Given the description of an element on the screen output the (x, y) to click on. 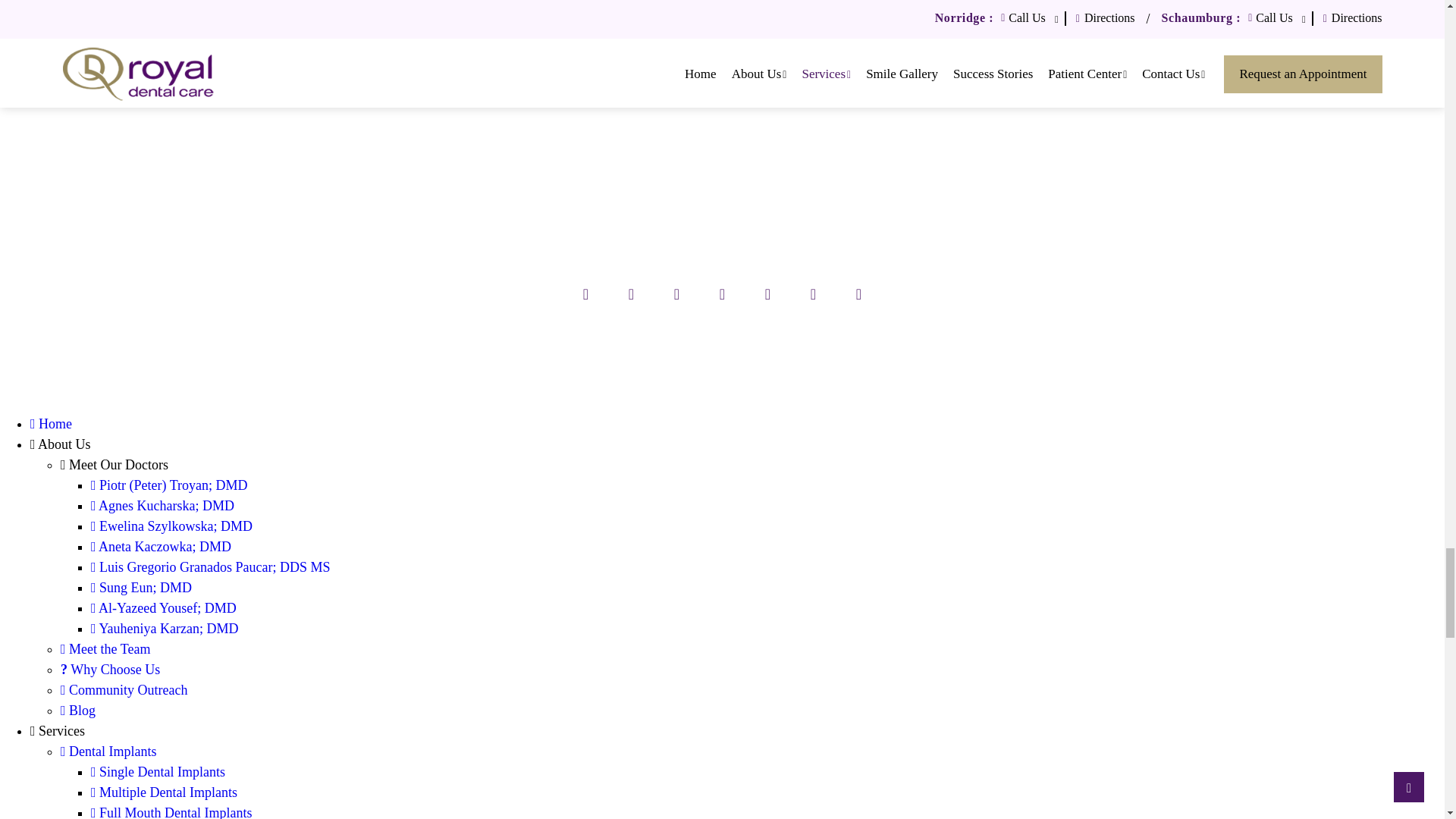
Link opens in a new window (631, 293)
Link opens in a new window (722, 293)
Link opens in a new window (877, 89)
Link opens in a new window (768, 293)
Link opens in a new window (199, 89)
Link opens in a new window (676, 293)
Link opens in a new window (813, 293)
Link opens in a new window (586, 293)
